Given the description of an element on the screen output the (x, y) to click on. 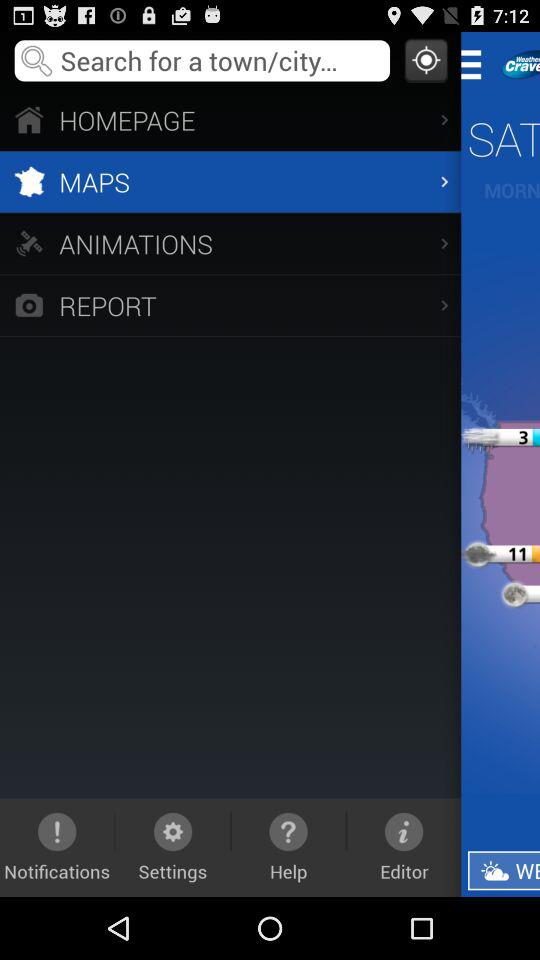
press the app above the homepage (426, 60)
